Given the description of an element on the screen output the (x, y) to click on. 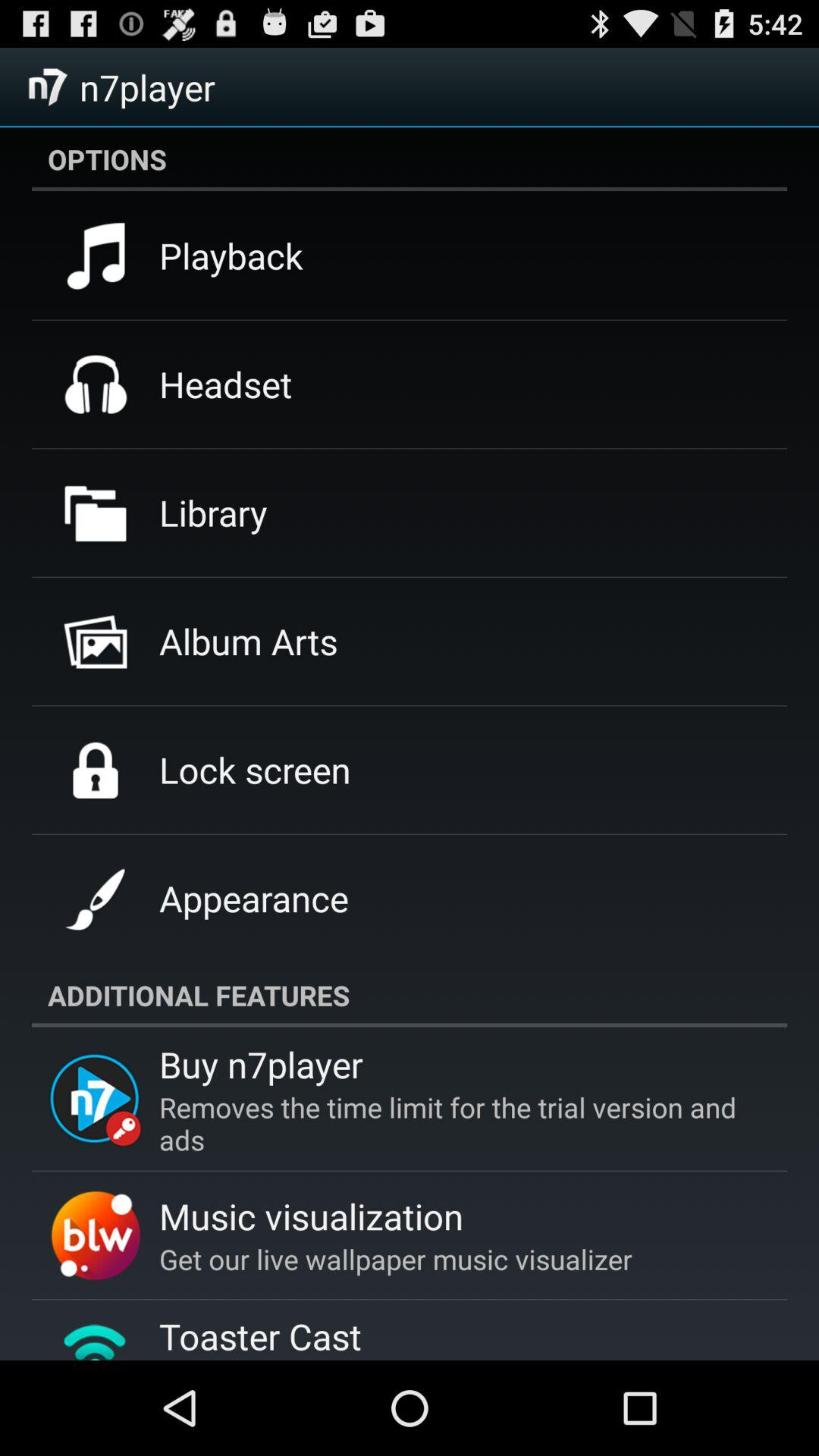
choose the app above get our live app (311, 1216)
